Given the description of an element on the screen output the (x, y) to click on. 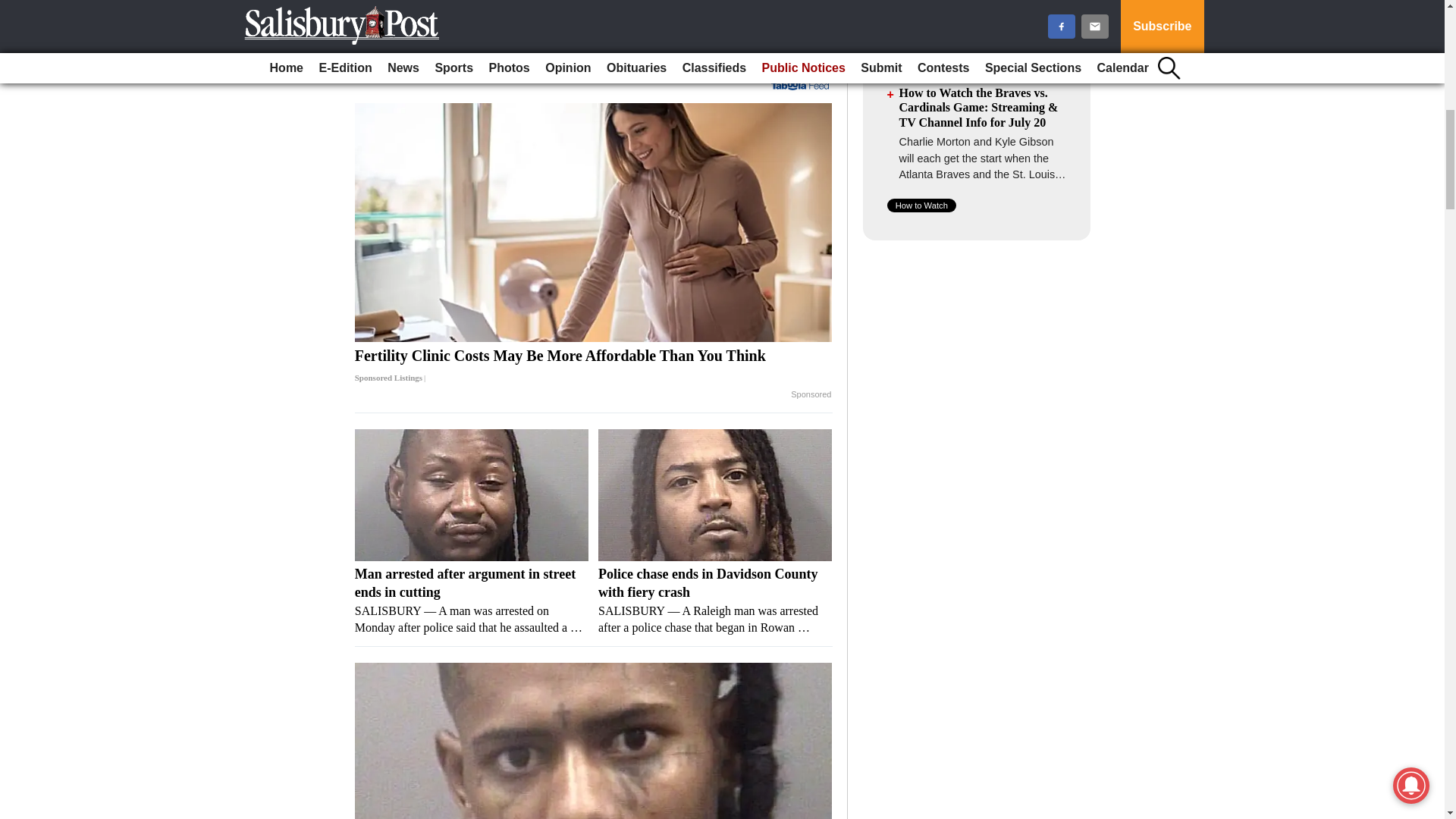
Police chase ends in Davidson County with fiery crash (714, 494)
Fertility Clinic Costs May Be More Affordable Than You Think (593, 222)
Fertility Clinic Costs May Be More Affordable Than You Think (593, 366)
Man arrested after argument in street ends in cutting (471, 494)
Police chase ends in Davidson County with fiery crash (714, 600)
Man arrested after argument in street ends in cutting (471, 600)
One charged after police chase ends in fiery crash (593, 740)
